Given the description of an element on the screen output the (x, y) to click on. 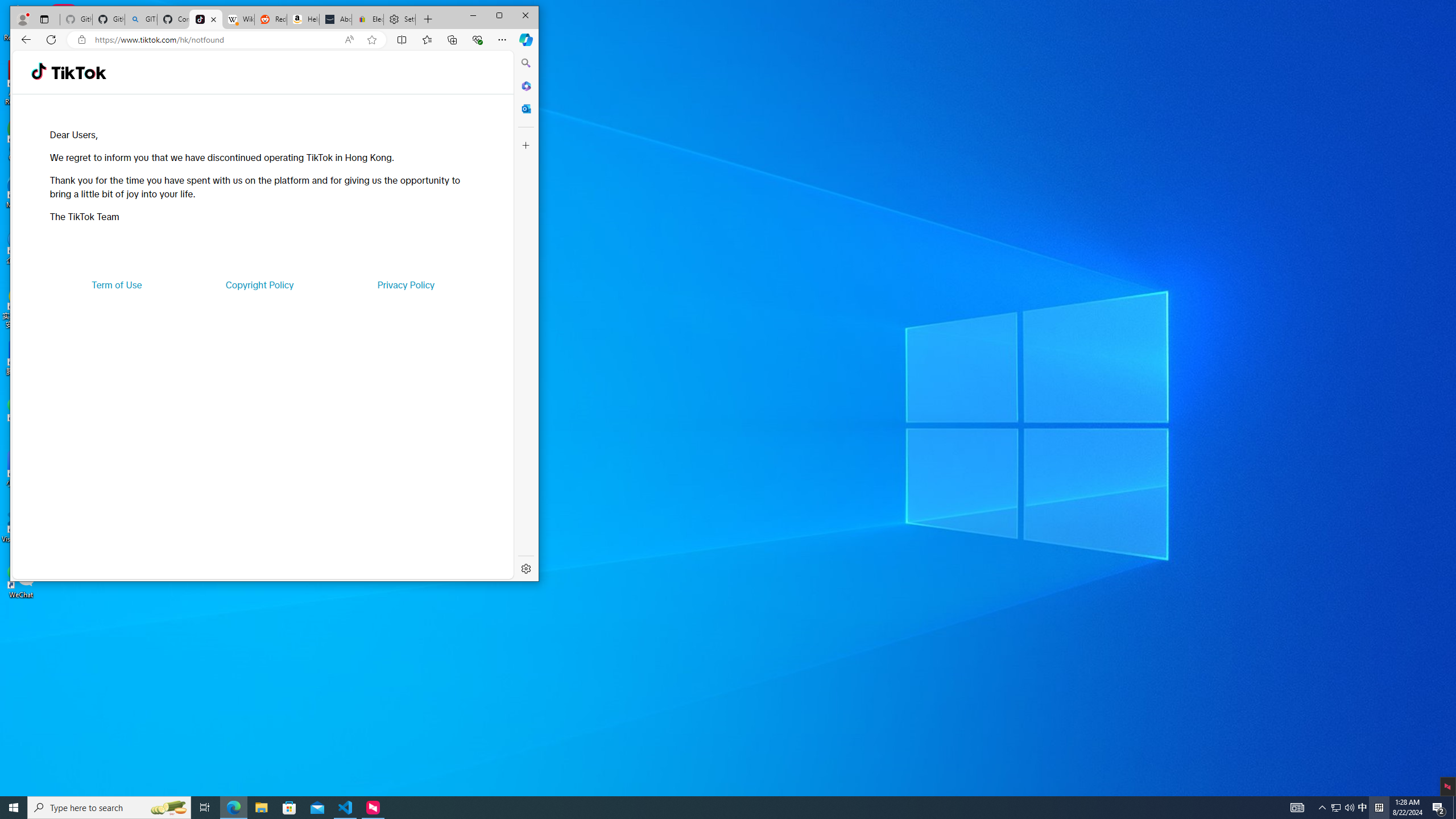
Privacy Policy (405, 284)
Show desktop (1454, 807)
TikTok (78, 72)
Wikipedia, the free encyclopedia (237, 19)
Help & Contact Us - Amazon Customer Service (303, 19)
Task View (204, 807)
Q2790: 100% (1349, 807)
AutomationID: 4105 (1297, 807)
